Given the description of an element on the screen output the (x, y) to click on. 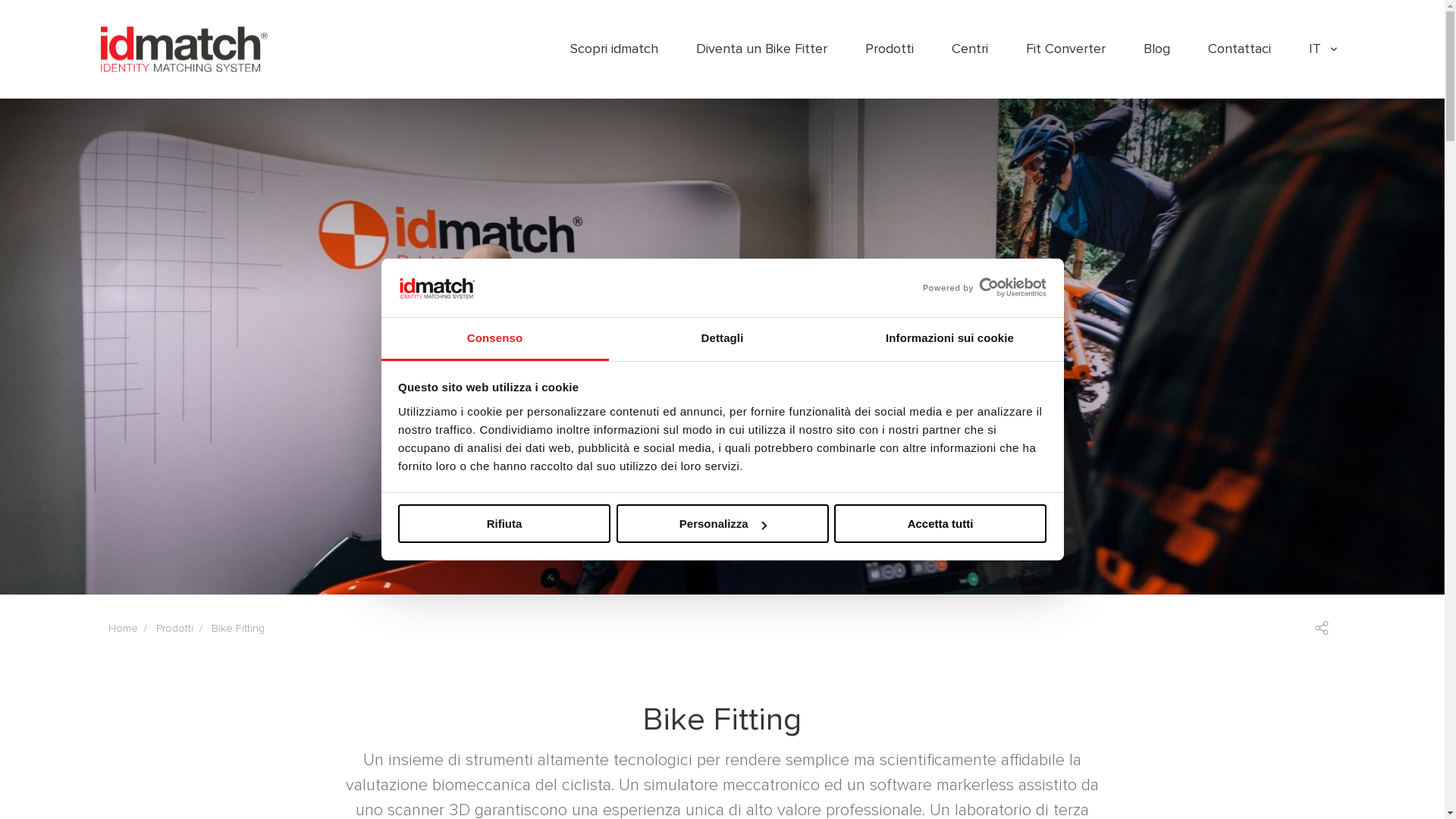
idmatch Element type: text (183, 49)
Personalizza Element type: text (721, 523)
Scopri idmatch Element type: text (614, 49)
Informazioni sui cookie Element type: text (949, 338)
Blog Element type: text (1156, 49)
Rifiuta Element type: text (504, 523)
Prodotti Element type: text (174, 627)
Dettagli Element type: text (721, 338)
Home Element type: text (122, 627)
IT Element type: text (1322, 49)
Centri Element type: text (969, 49)
Prodotti Element type: text (889, 49)
Diventa un Bike Fitter Element type: text (761, 49)
Accetta tutti Element type: text (940, 523)
Fit Converter Element type: text (1065, 49)
Consenso Element type: text (494, 338)
Contattaci Element type: text (1239, 49)
